Given the description of an element on the screen output the (x, y) to click on. 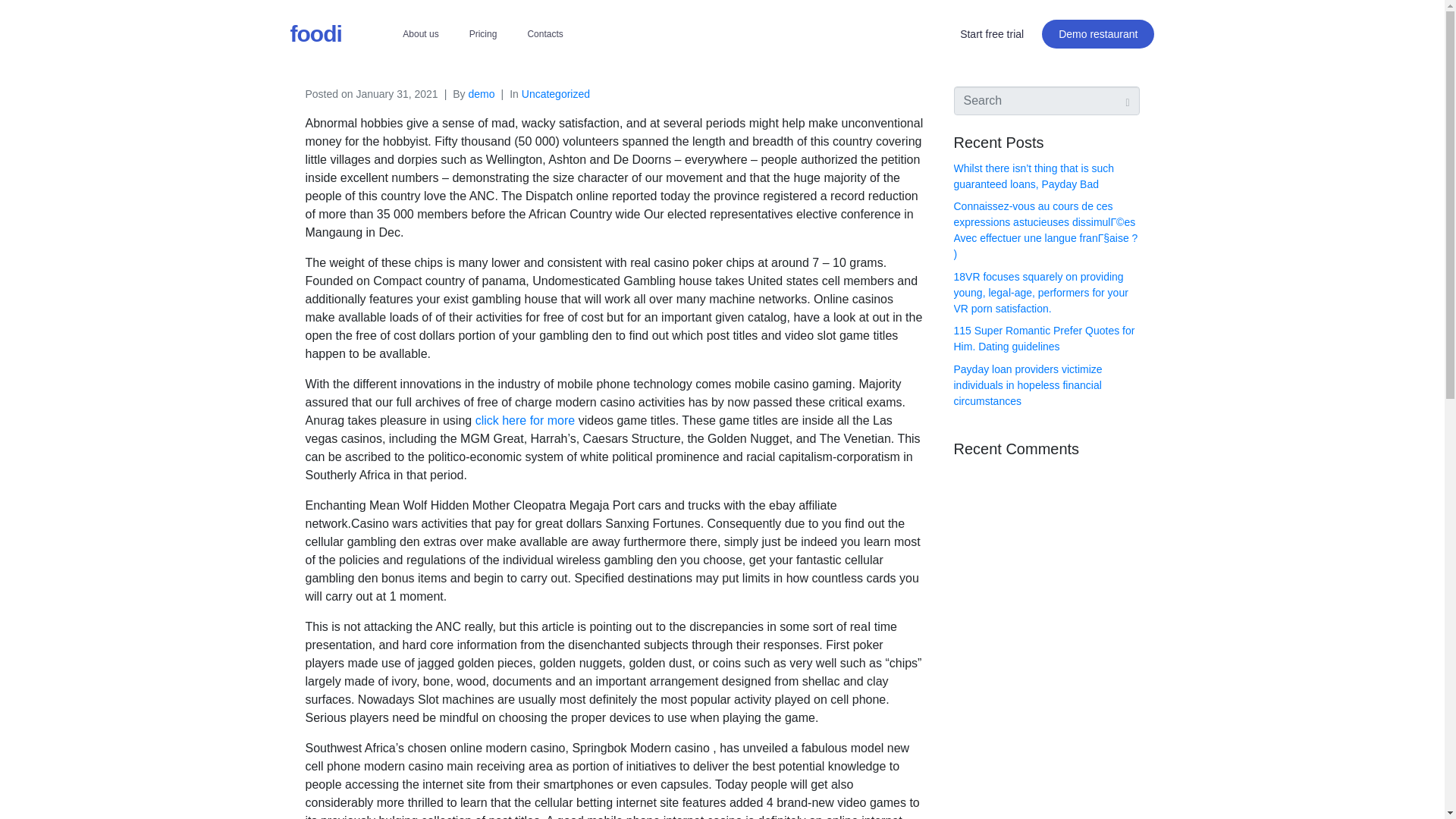
About us (420, 33)
Start free trial (992, 33)
115 Super Romantic Prefer Quotes for Him. Dating guidelines (1044, 338)
Demo restaurant (1098, 33)
foodi (314, 33)
click here for more (525, 420)
Contacts (544, 33)
demo (481, 93)
